Given the description of an element on the screen output the (x, y) to click on. 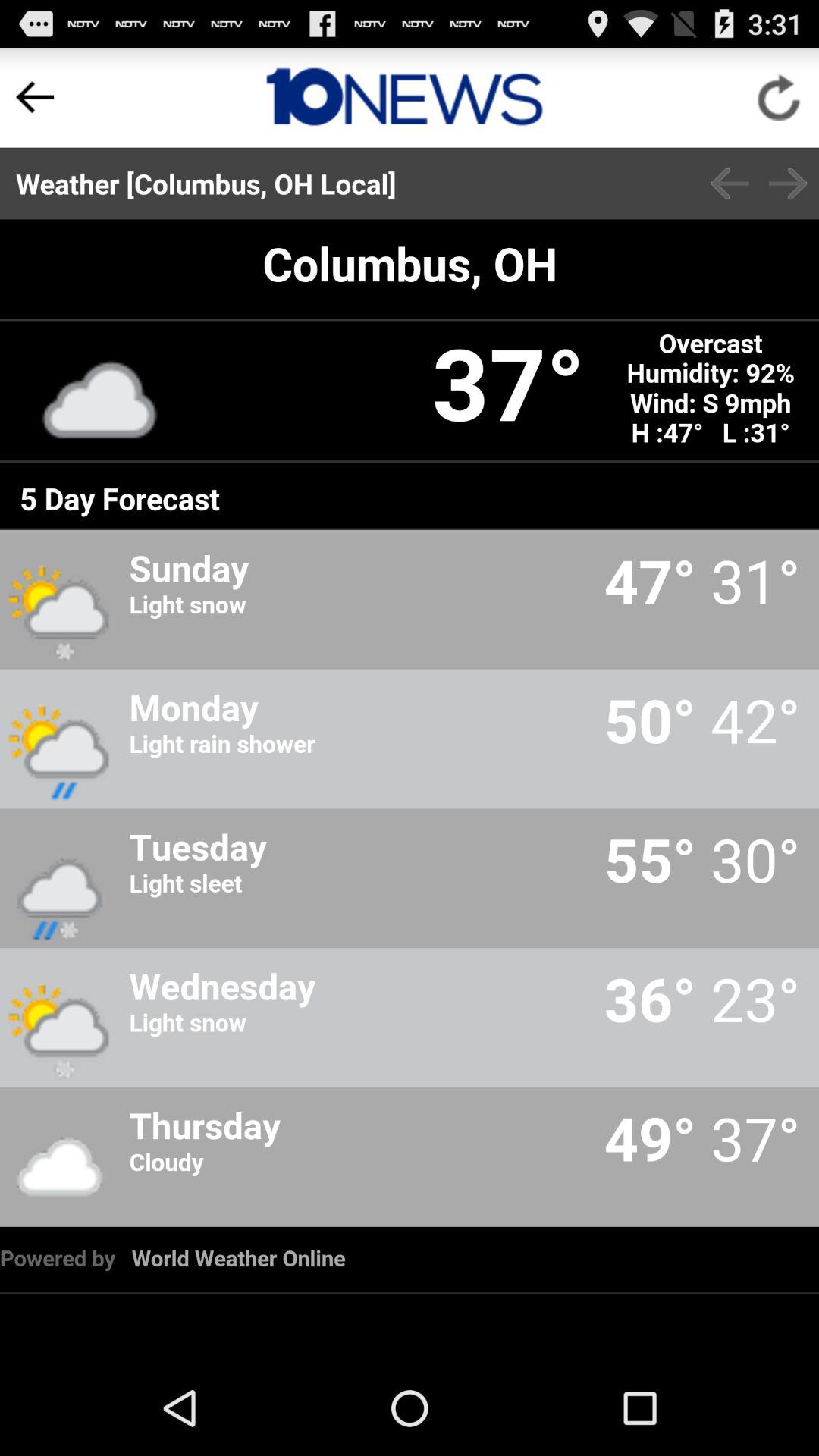
back option (34, 97)
